Given the description of an element on the screen output the (x, y) to click on. 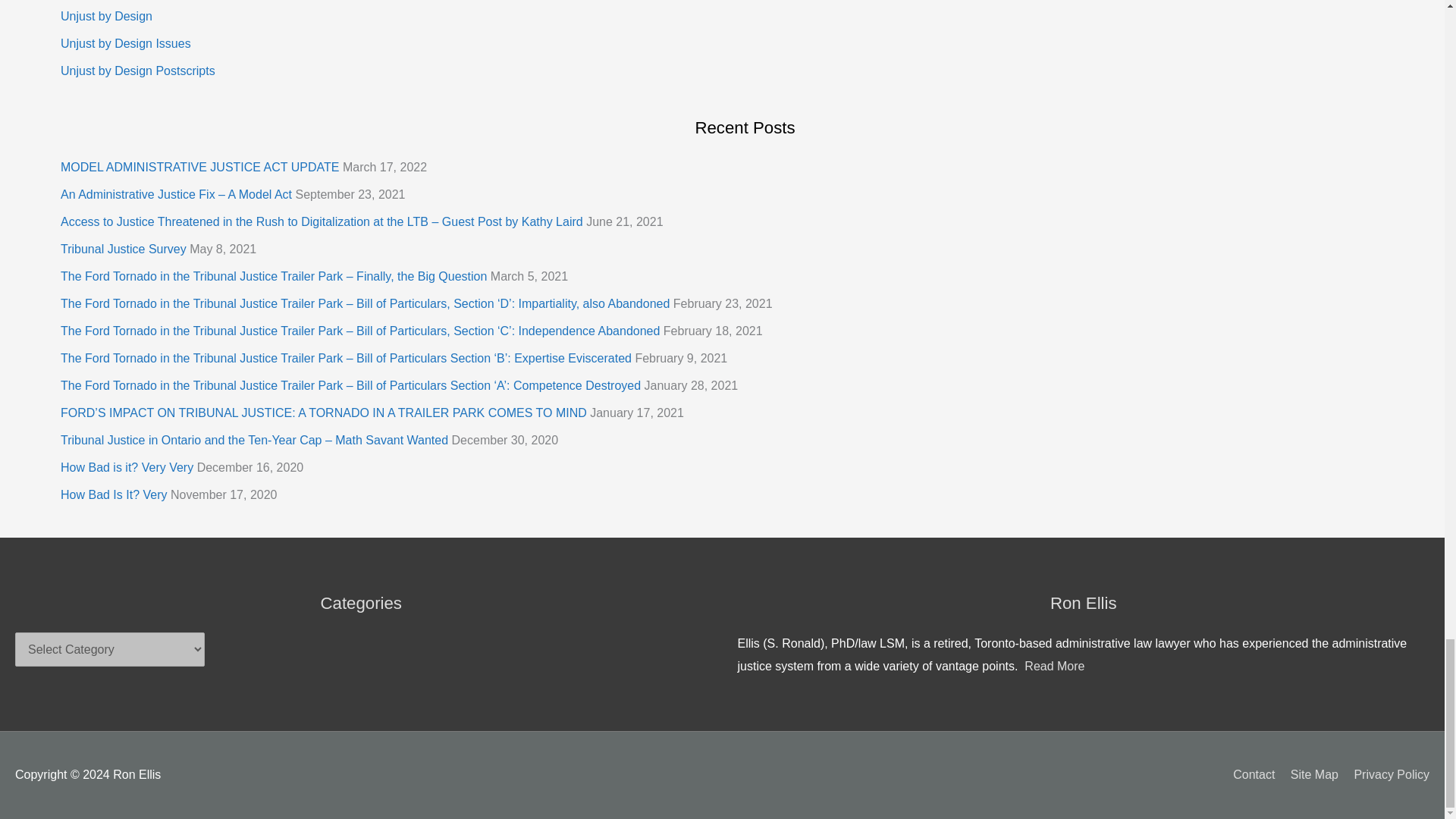
Tribunal Justice Survey (123, 248)
Unjust by Design Issues (125, 42)
MODEL ADMINISTRATIVE JUSTICE ACT UPDATE (200, 166)
Unjust by Design (106, 15)
Unjust by Design Postscripts (138, 70)
